Given the description of an element on the screen output the (x, y) to click on. 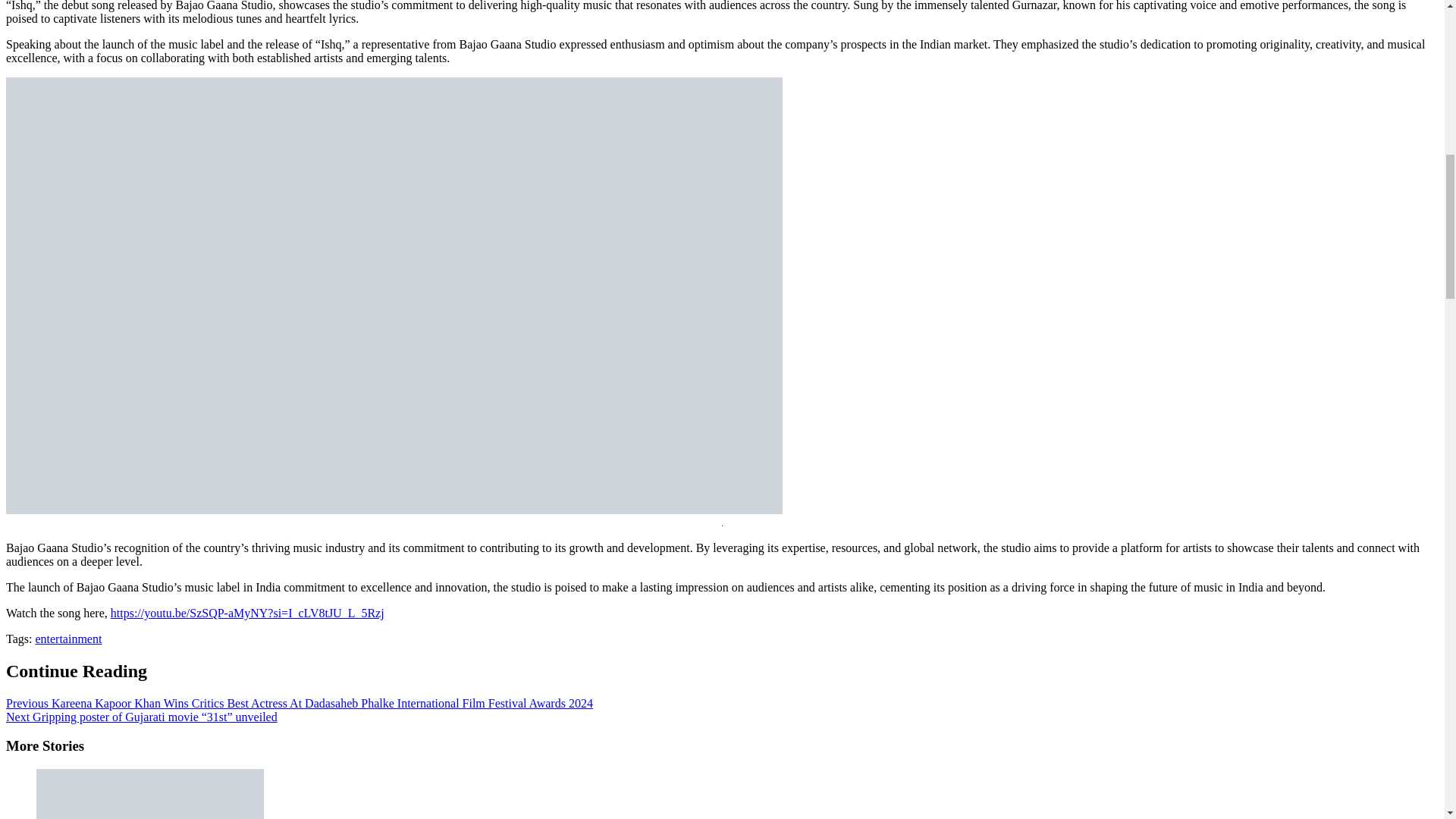
entertainment (67, 638)
